Given the description of an element on the screen output the (x, y) to click on. 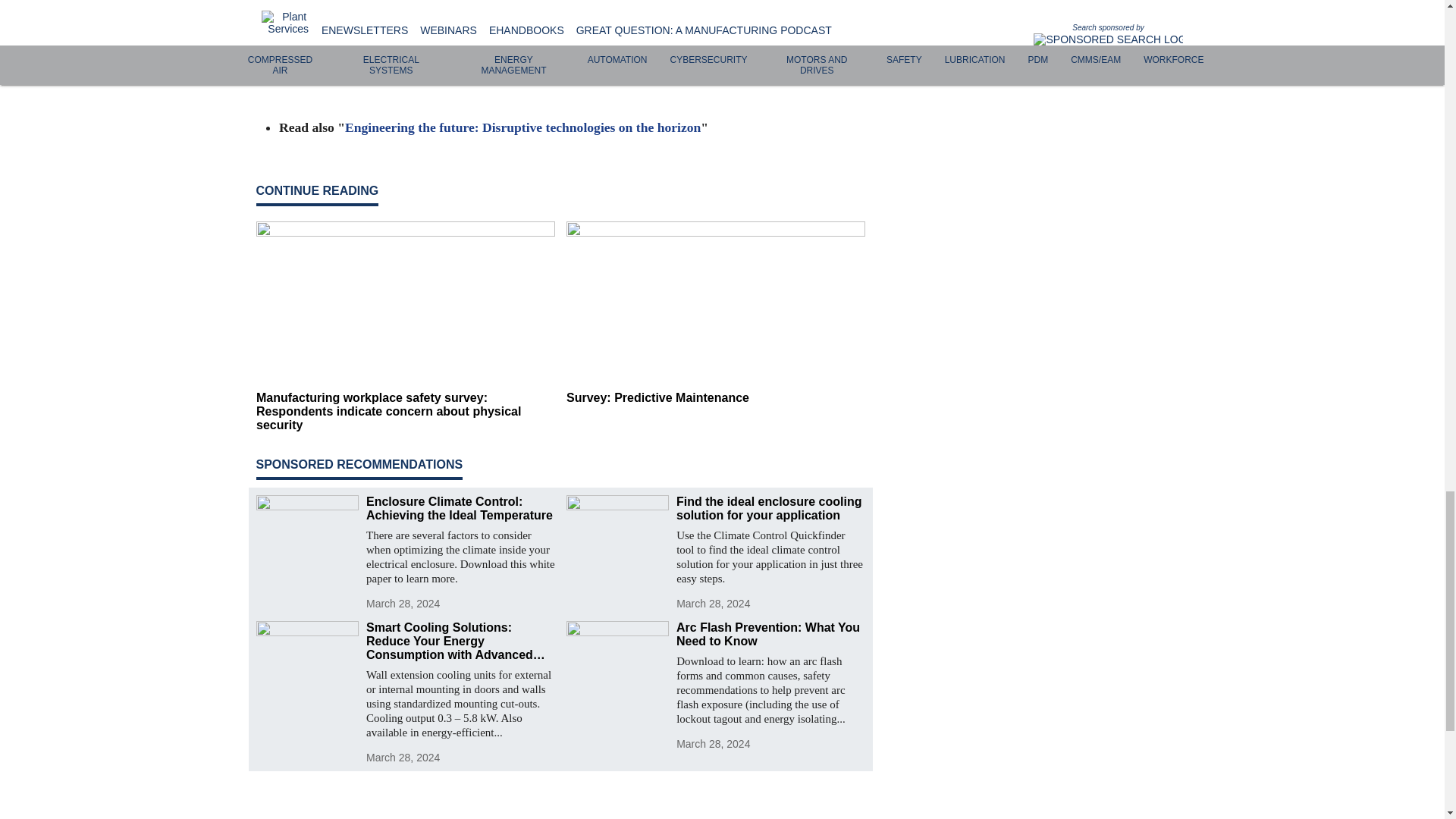
ar-survey4 (560, 57)
Enclosure Climate Control: Achieving the Ideal Temperature (459, 508)
Survey: Predictive Maintenance (715, 397)
